Given the description of an element on the screen output the (x, y) to click on. 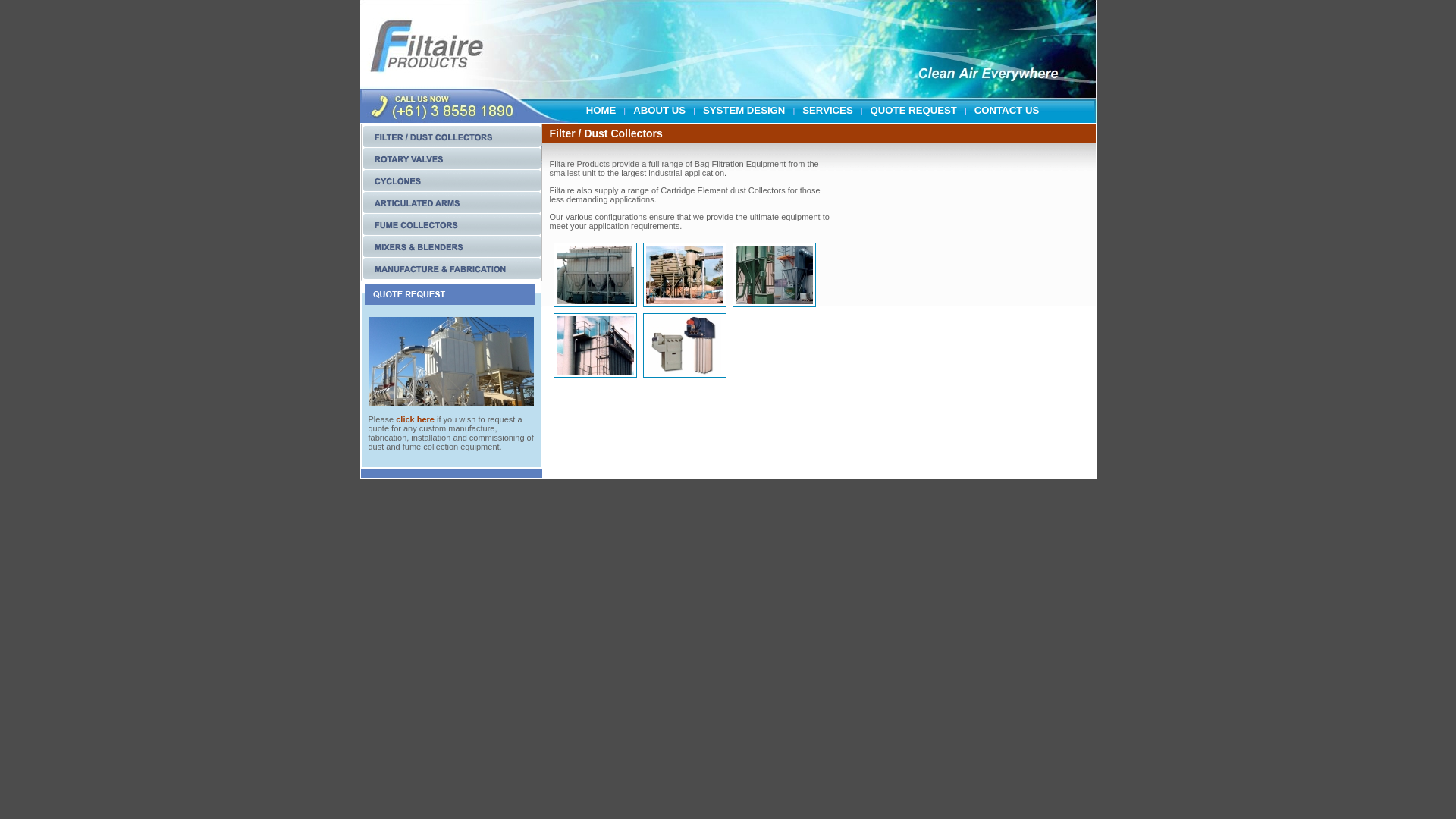
SERVICES Element type: text (826, 101)
SYSTEM DESIGN Element type: text (743, 101)
click here Element type: text (414, 418)
QUOTE REQUEST Element type: text (913, 101)
Fume Collectors Element type: hover (451, 232)
ABOUT US Element type: text (659, 101)
CONTACT US Element type: text (1006, 101)
HOME Element type: text (601, 101)
s Element type: hover (451, 166)
  Element type: hover (451, 210)
